Given the description of an element on the screen output the (x, y) to click on. 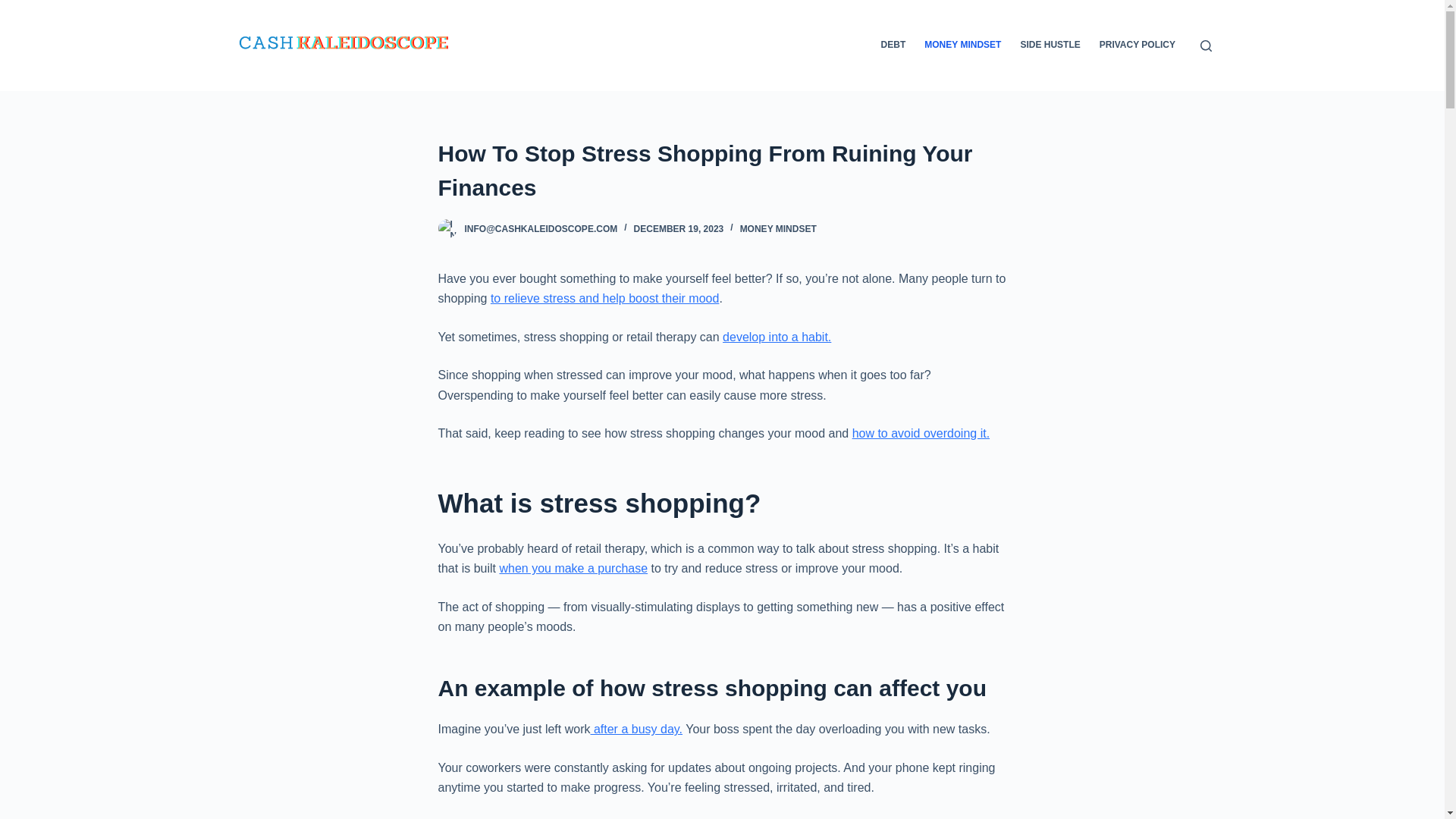
when you make a purchase (573, 567)
Skip to content (15, 7)
MONEY MINDSET (777, 228)
after a busy day. (635, 728)
PRIVACY POLICY (1137, 45)
develop into a habit. (776, 336)
to relieve stress and help boost their mood (604, 297)
How To Stop Stress Shopping From Ruining Your Finances (722, 170)
MONEY MINDSET (962, 45)
how to avoid overdoing it. (920, 432)
